Given the description of an element on the screen output the (x, y) to click on. 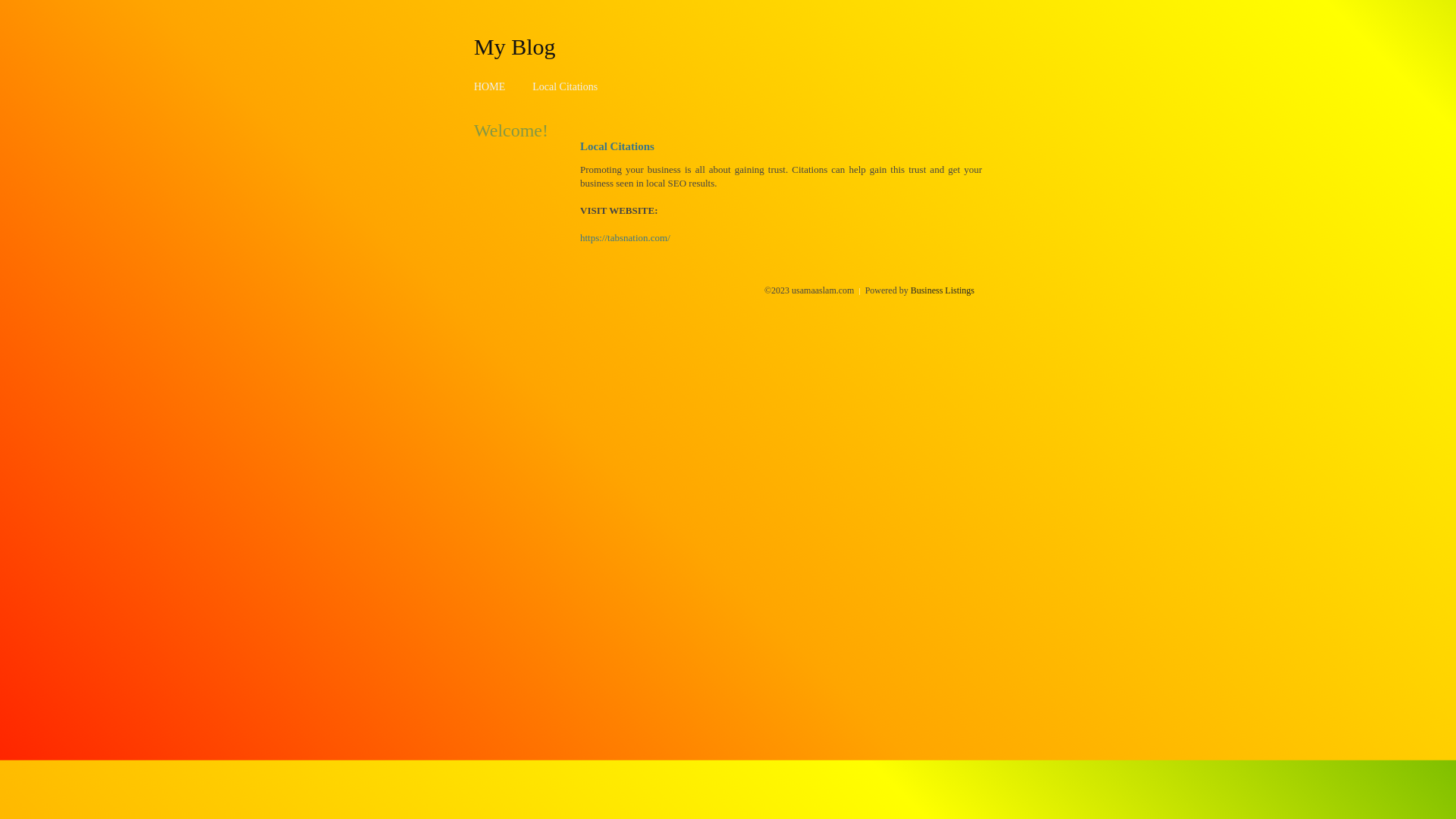
Business Listings Element type: text (942, 290)
HOME Element type: text (489, 86)
Local Citations Element type: text (564, 86)
https://tabsnation.com/ Element type: text (625, 237)
My Blog Element type: text (514, 46)
